Given the description of an element on the screen output the (x, y) to click on. 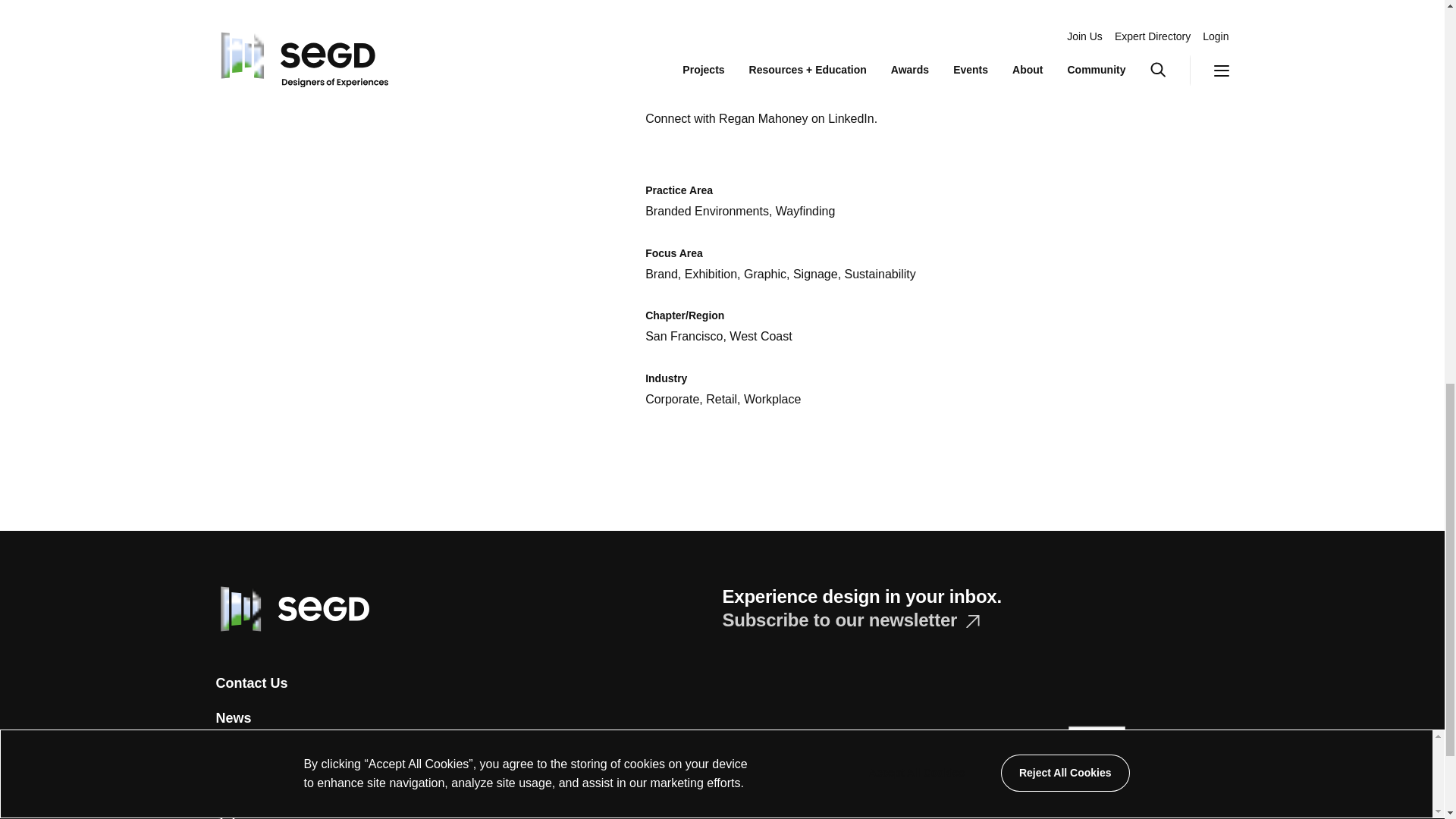
Jobs (231, 816)
Subscribe to our newsletter (850, 619)
Contact Us (250, 683)
Society for Experiential Graphic Design logo (291, 608)
Return to Homepage (291, 607)
About Us (245, 752)
News (232, 718)
Partnerships (256, 787)
